Given the description of an element on the screen output the (x, y) to click on. 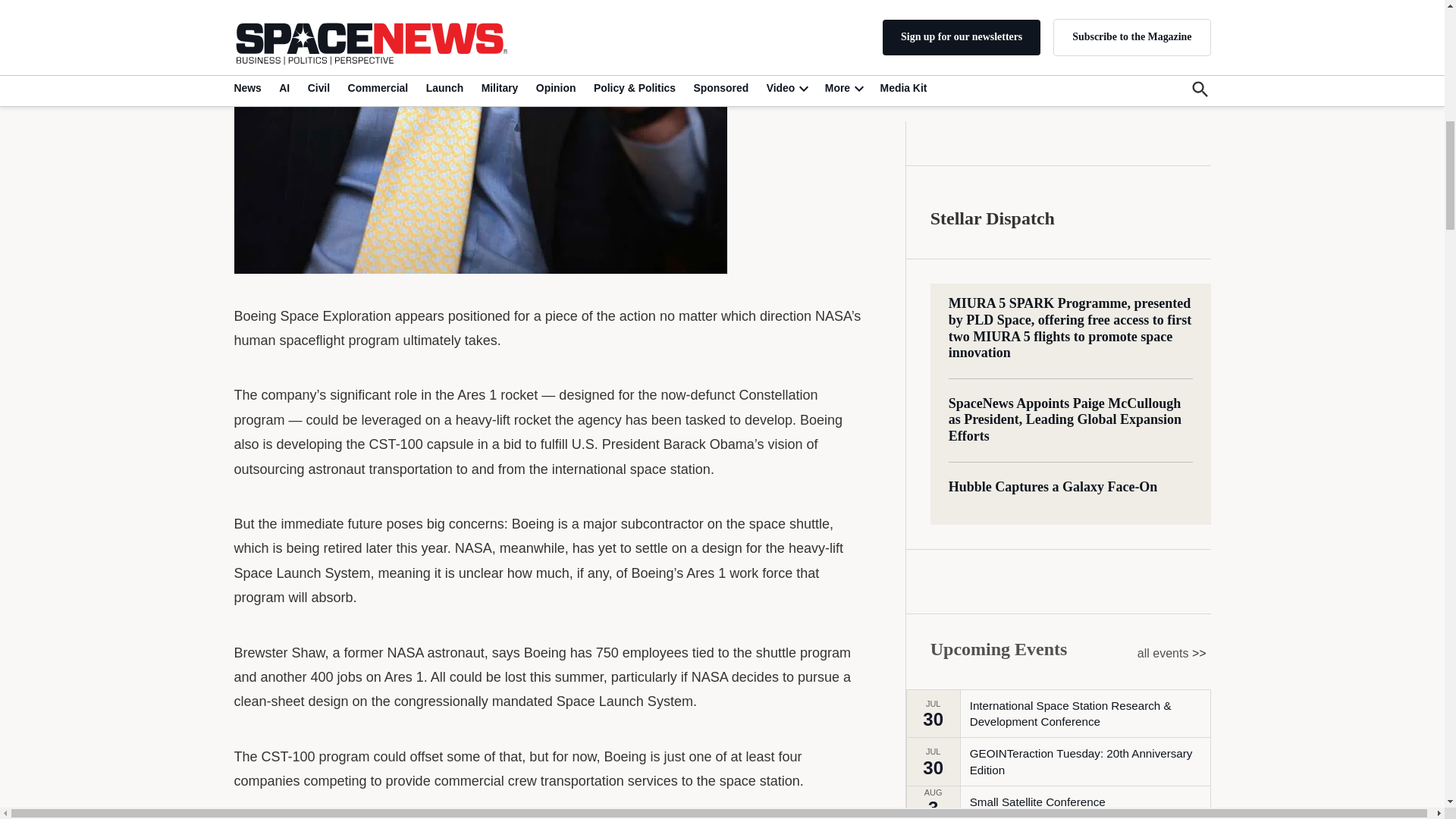
Small Satellite Conference (1037, 227)
GEOINTeraction Tuesday: 20th Anniversary Edition (1089, 186)
